Given the description of an element on the screen output the (x, y) to click on. 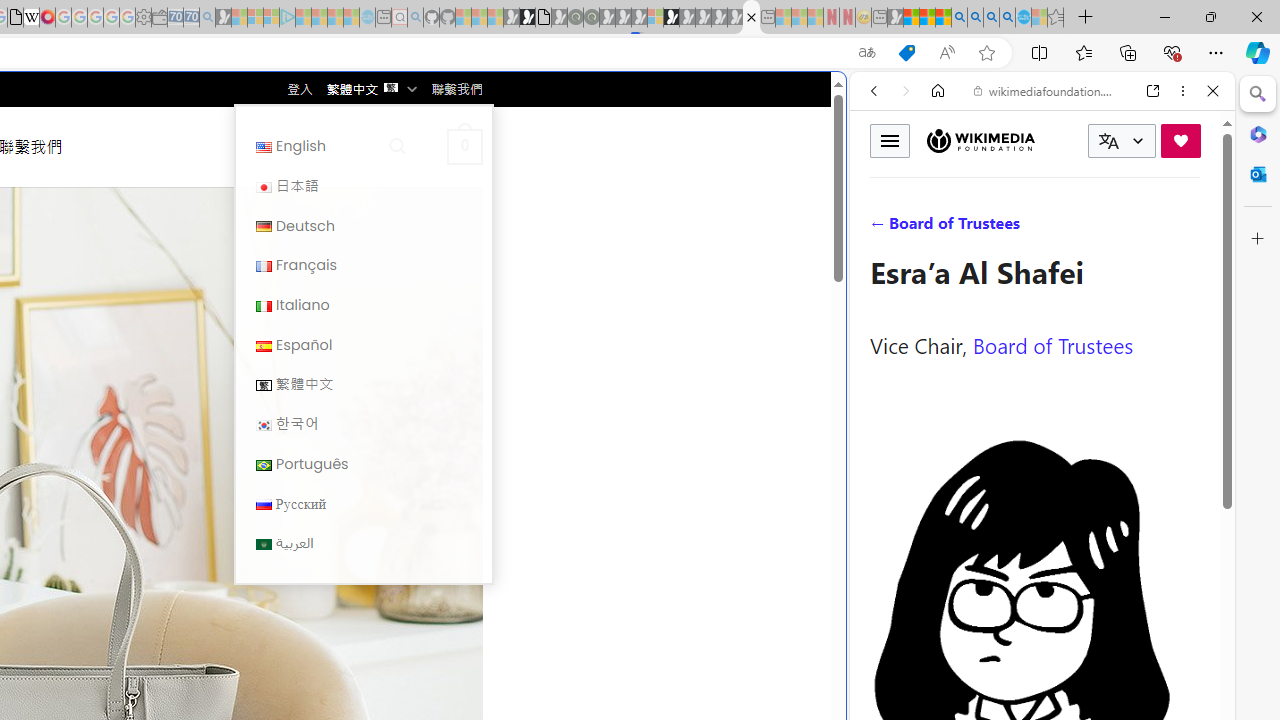
Settings - Sleeping (143, 17)
Search or enter web address (343, 191)
Play Zoo Boom in your browser | Games from Microsoft Start (527, 17)
